Given the description of an element on the screen output the (x, y) to click on. 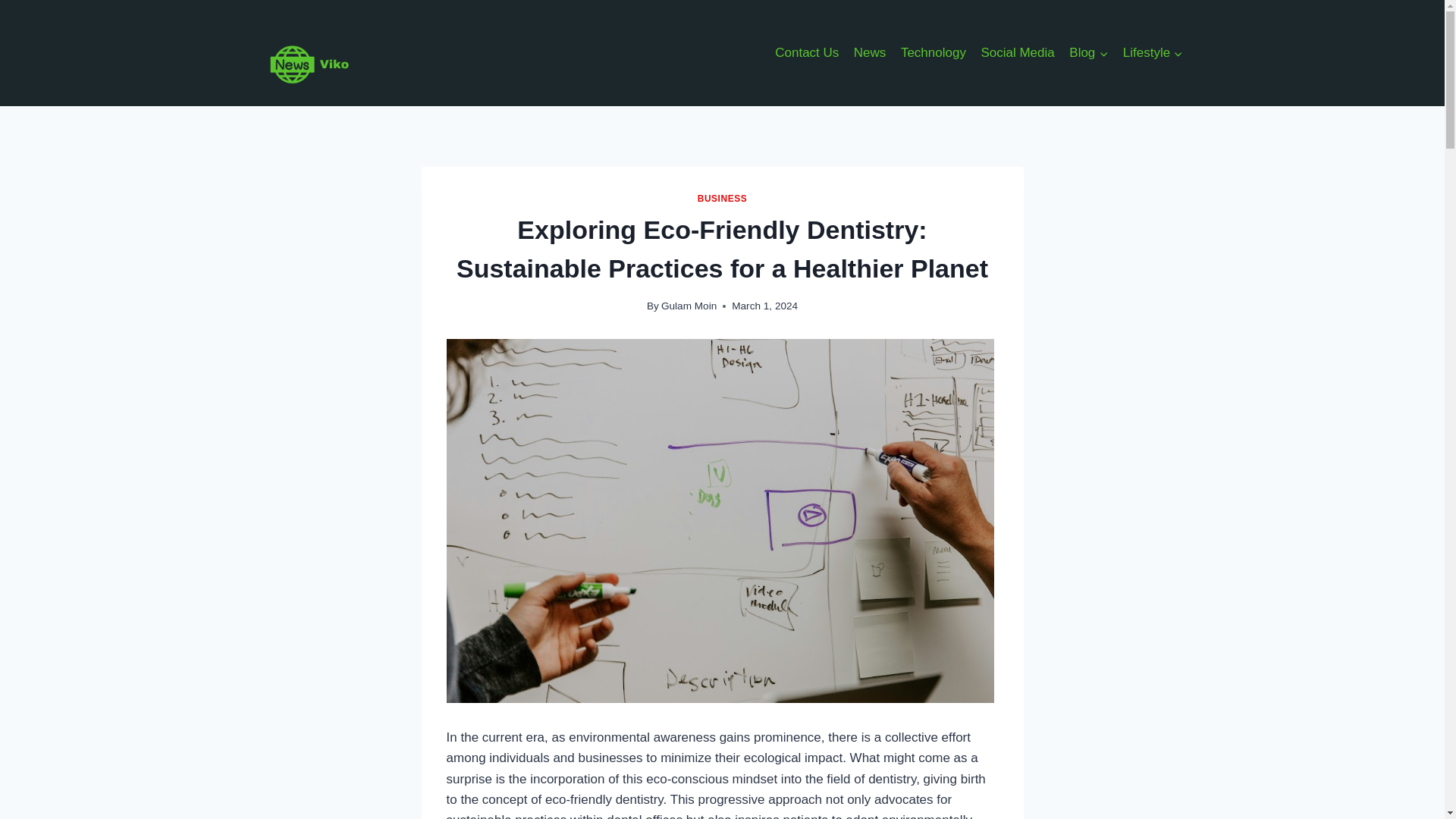
Technology (933, 53)
BUSINESS (722, 198)
Social Media (1018, 53)
Lifestyle (1153, 53)
Gulam Moin (688, 306)
News (869, 53)
Blog (1089, 53)
Contact Us (806, 53)
